Given the description of an element on the screen output the (x, y) to click on. 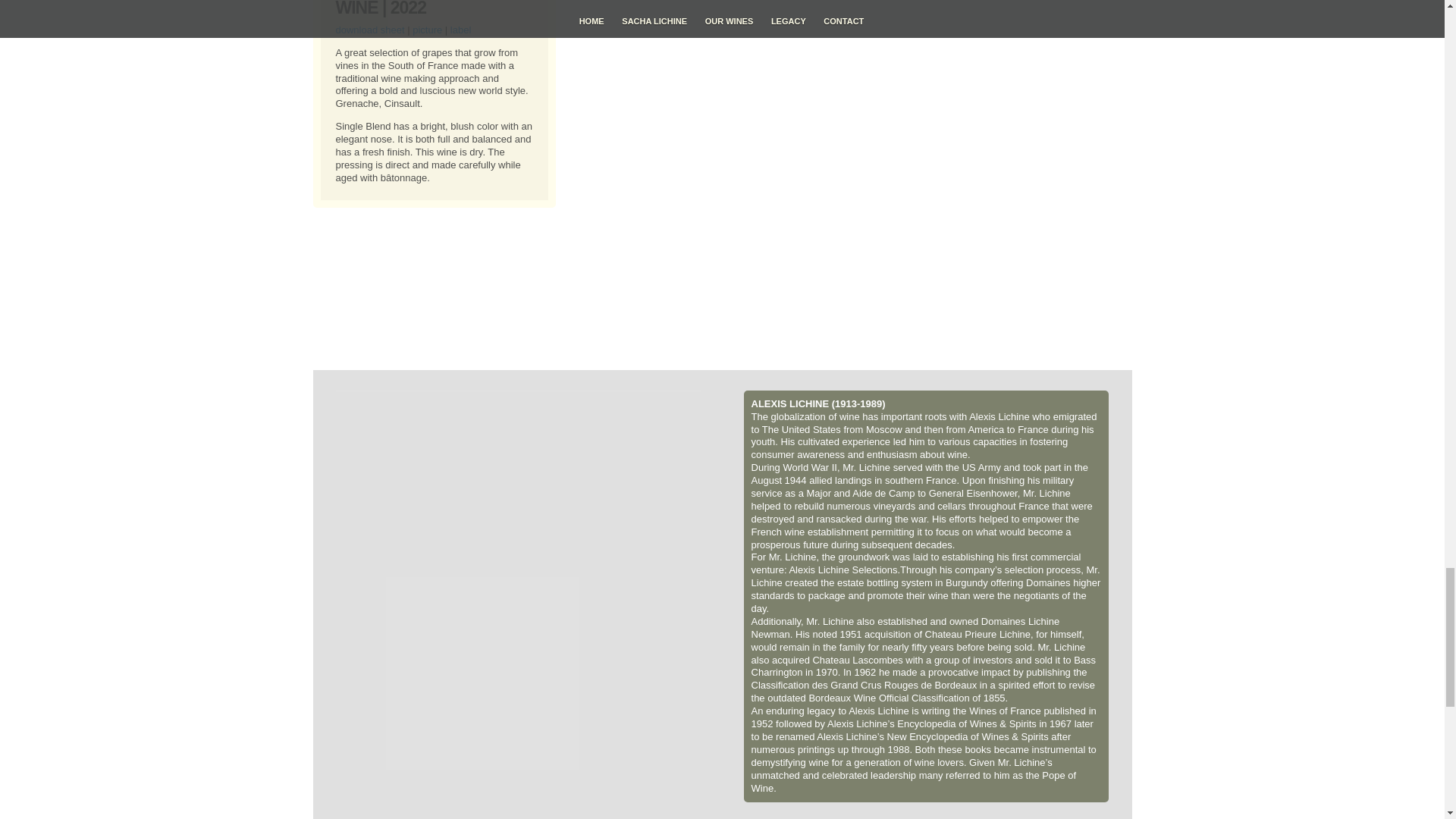
picture (427, 30)
label (459, 30)
download sheet (369, 30)
